Given the description of an element on the screen output the (x, y) to click on. 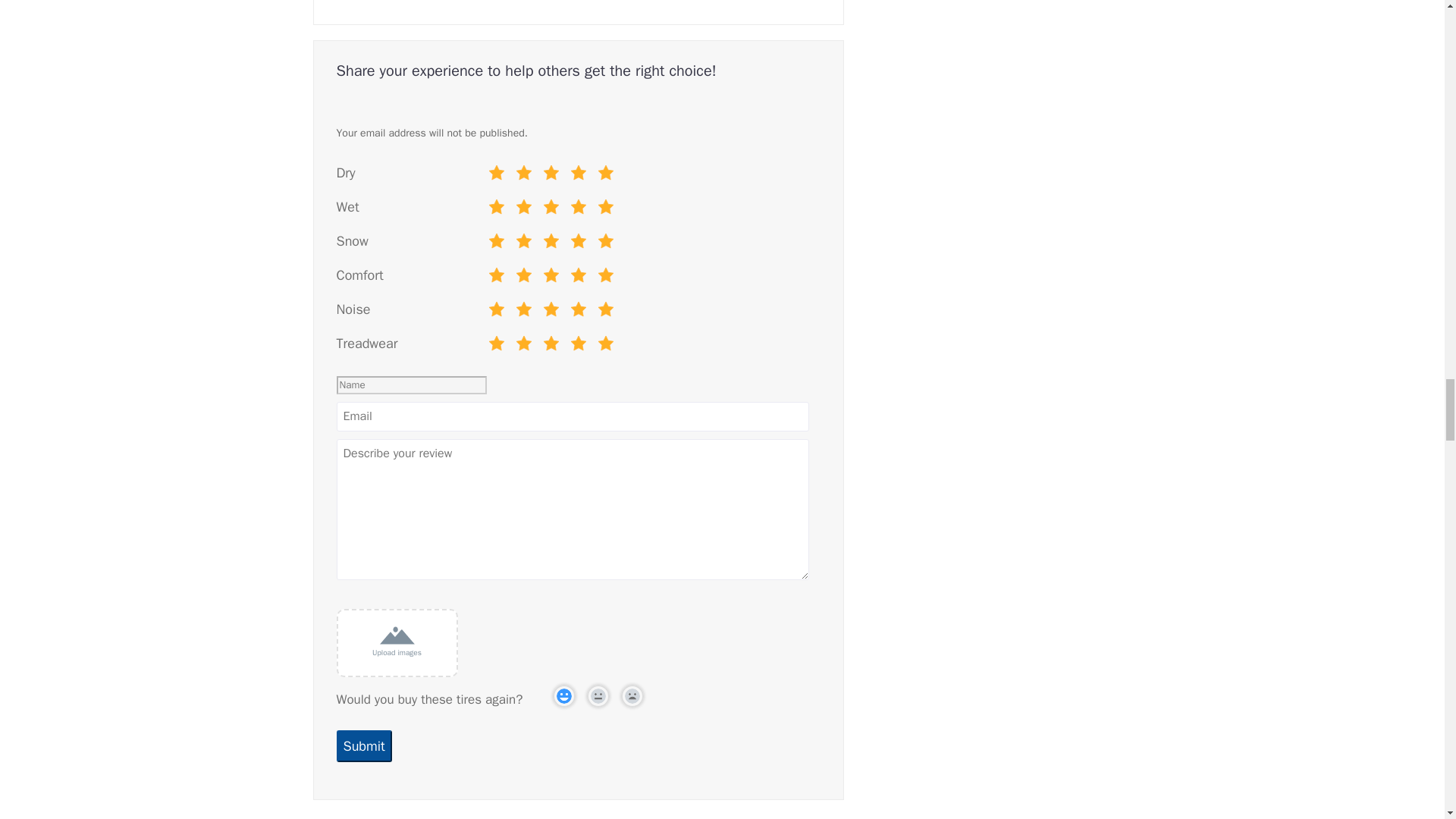
4 (491, 171)
1 (491, 205)
1 (491, 239)
3 (491, 239)
4 (491, 274)
Good (550, 175)
Outstanding (606, 209)
1 (491, 274)
Very Good (578, 175)
5 (491, 239)
